Given the description of an element on the screen output the (x, y) to click on. 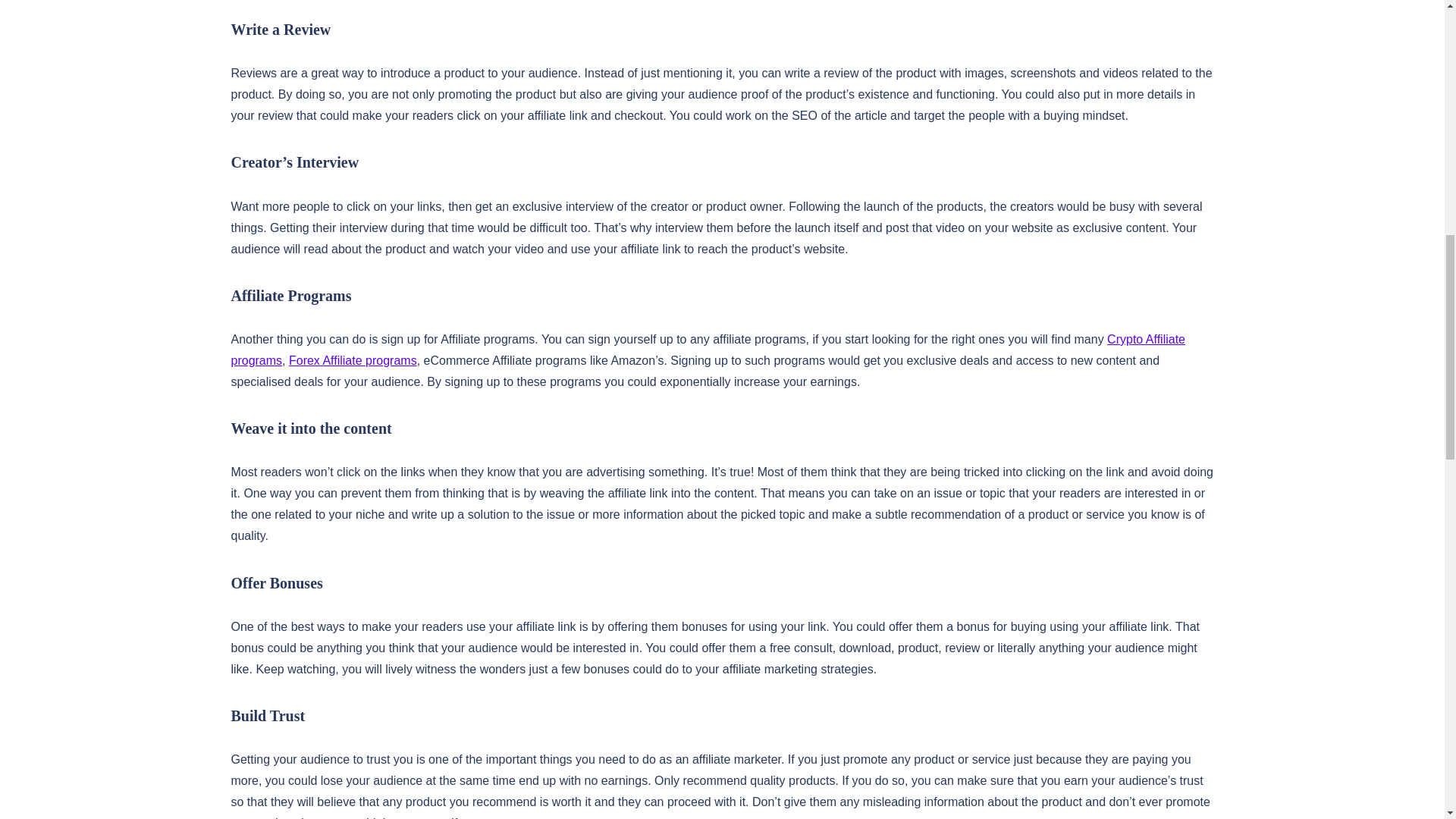
Crypto Affiliate programs (707, 349)
Forex Affiliate programs (352, 359)
